Given the description of an element on the screen output the (x, y) to click on. 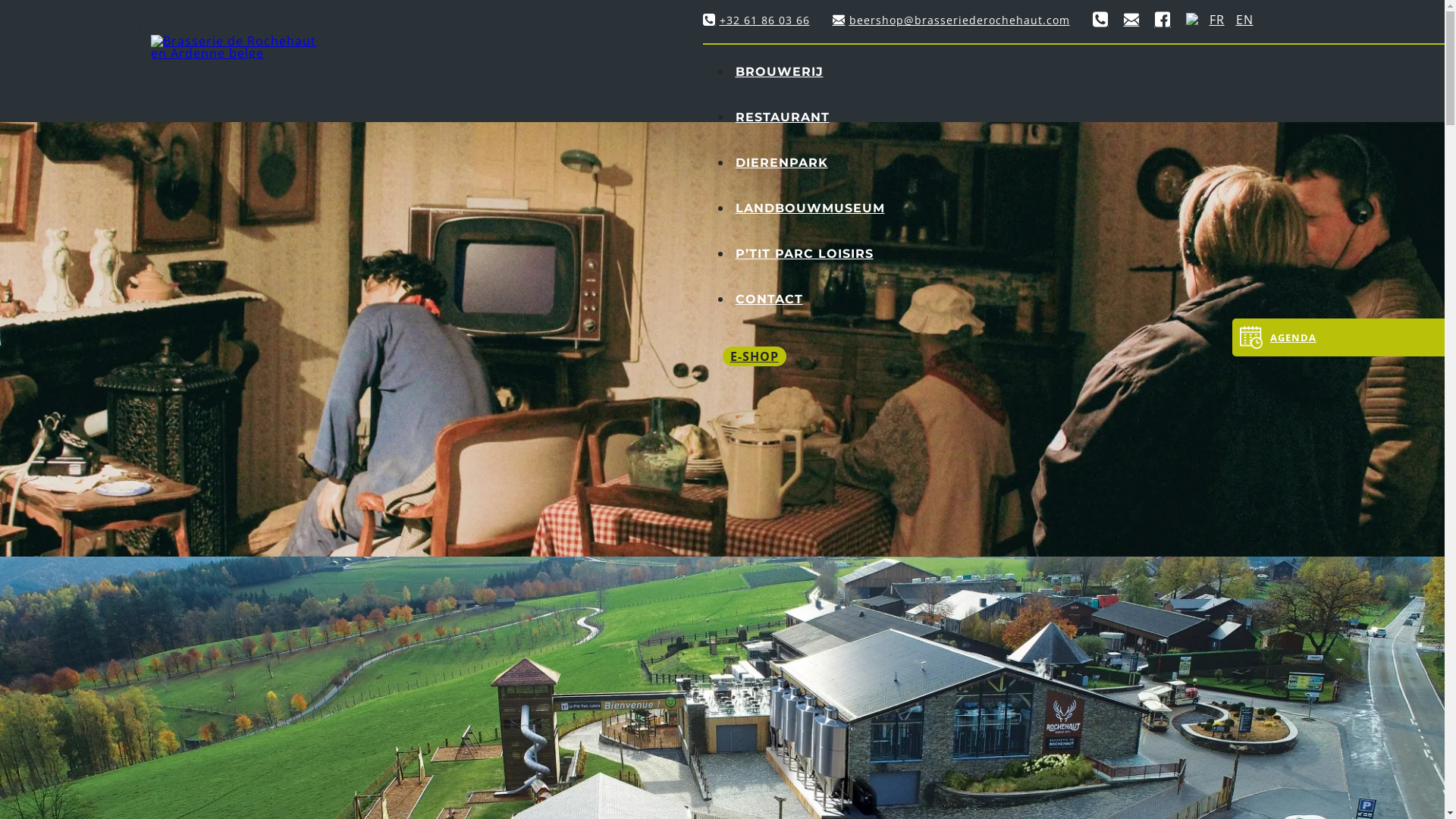
+32 61 86 03 66 Element type: text (766, 19)
EN Element type: text (1244, 19)
FR Element type: text (1221, 19)
LANDBOUWMUSEUM Element type: text (809, 207)
DIERENPARK Element type: text (781, 162)
beershop@brasseriederochehaut.com Element type: text (962, 19)
E-SHOP Element type: text (753, 356)
BROUWERIJ Element type: text (779, 71)
Brasserie de Rochehaut en Ardenne belge Element type: hover (235, 46)
AGENDA Element type: text (1338, 337)
CONTACT Element type: text (769, 298)
RESTAURANT Element type: text (782, 116)
